Given the description of an element on the screen output the (x, y) to click on. 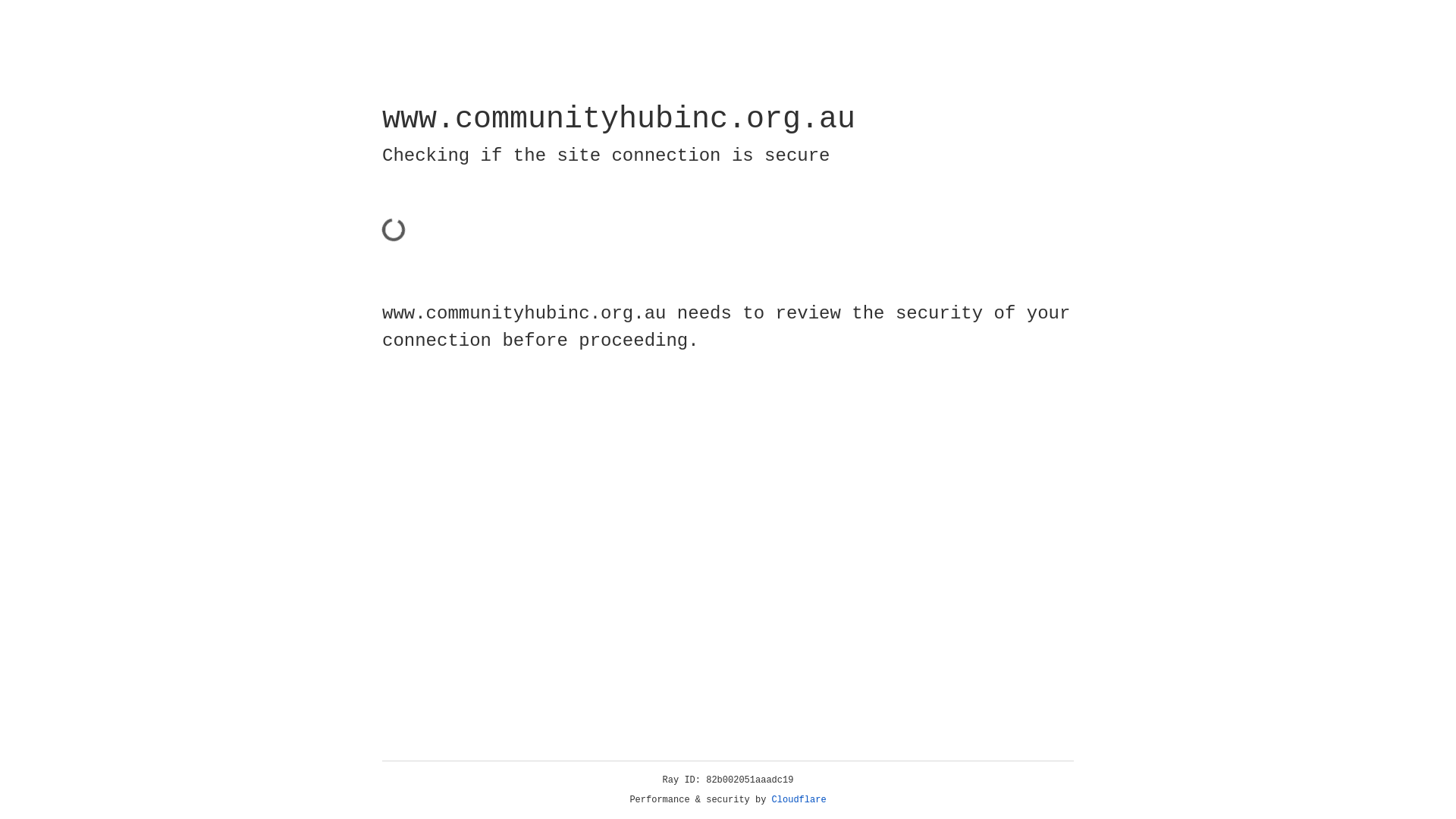
Cloudflare Element type: text (798, 799)
